Given the description of an element on the screen output the (x, y) to click on. 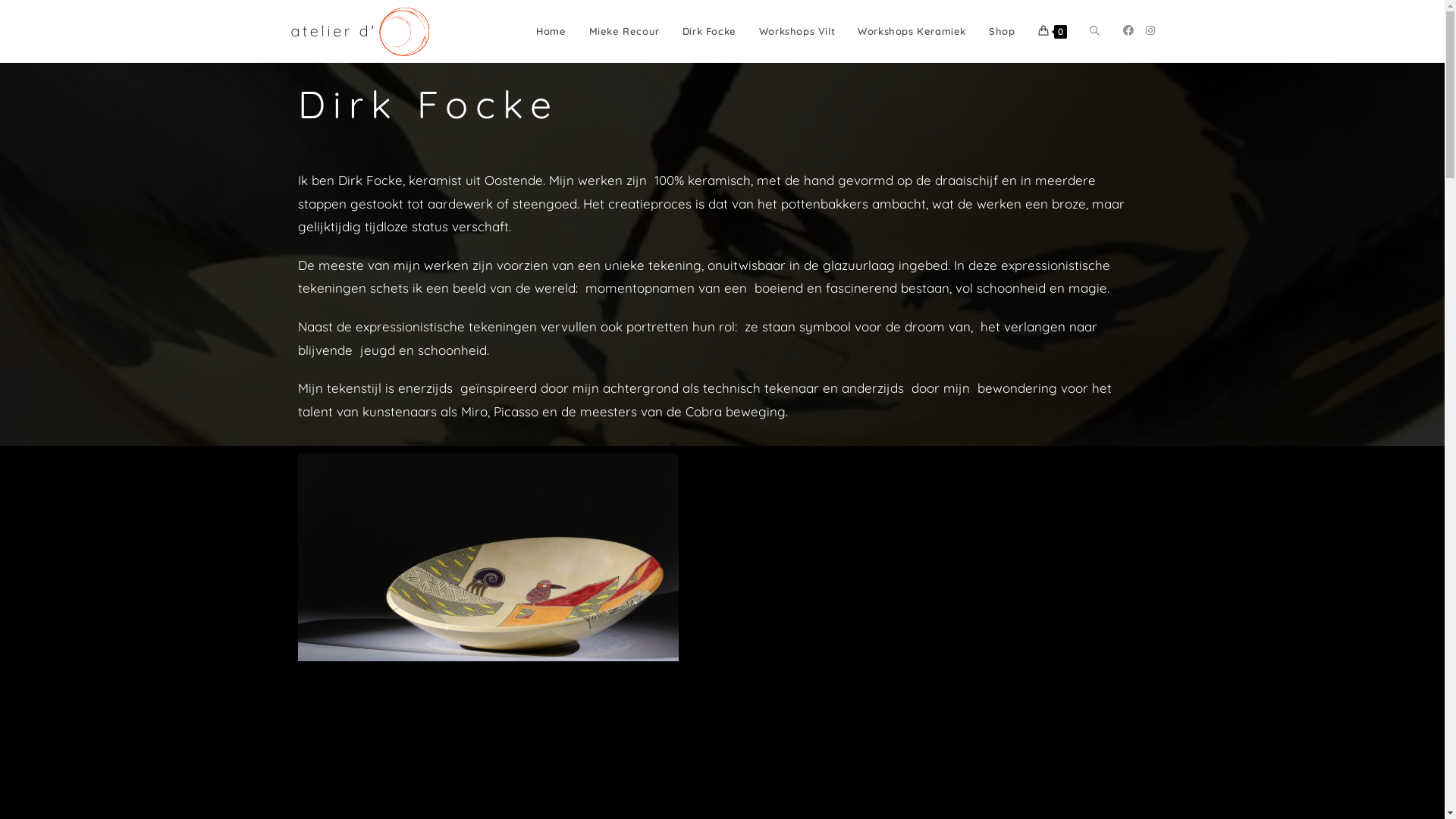
Workshops Keramiek Element type: text (911, 31)
Mieke Recour Element type: text (624, 31)
0 Element type: text (1052, 31)
Shop Element type: text (1001, 31)
Dirk Focke Element type: text (709, 31)
Workshops Vilt Element type: text (796, 31)
Home Element type: text (550, 31)
